Given the description of an element on the screen output the (x, y) to click on. 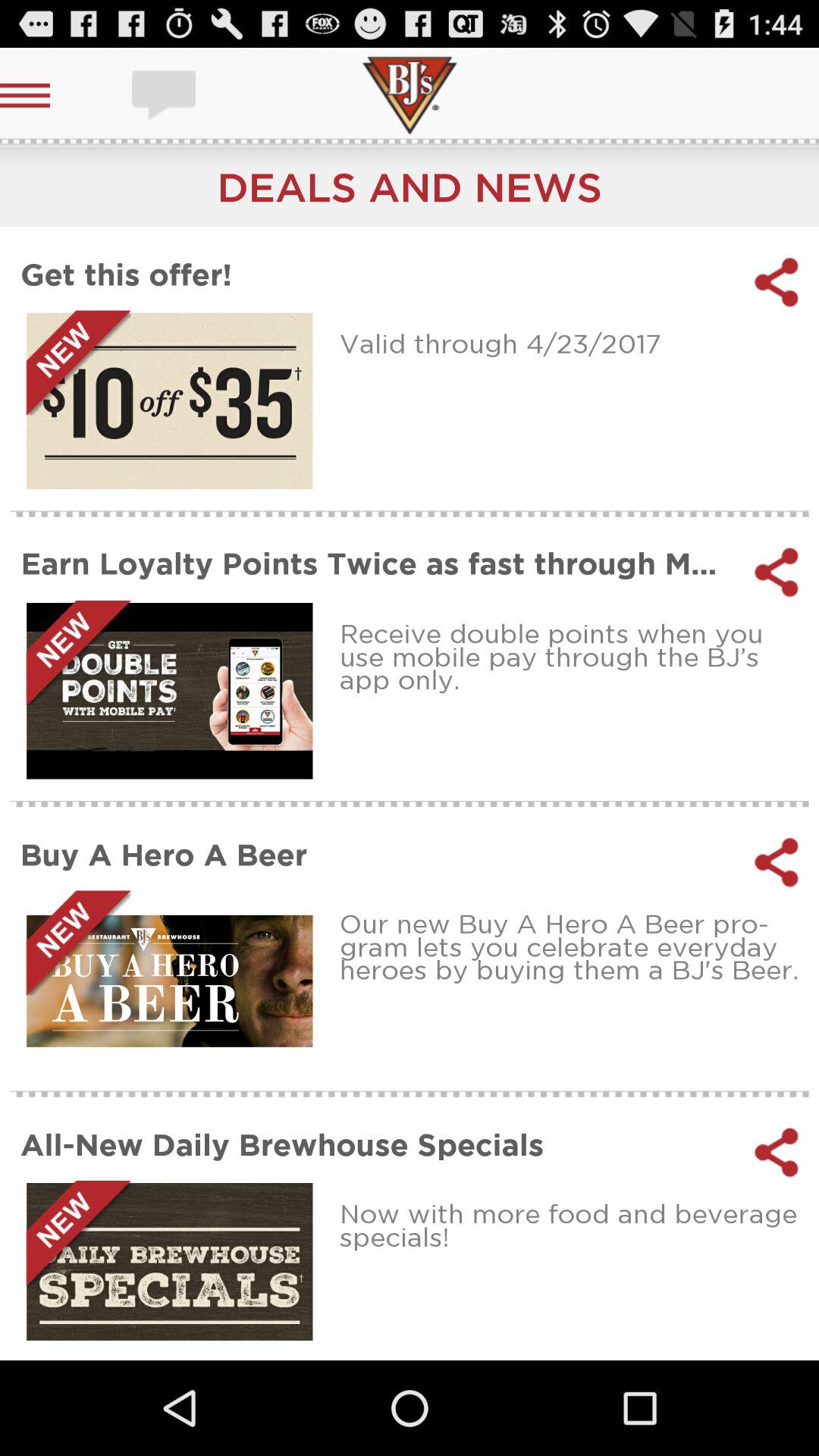
turn on the get this offer! icon (377, 274)
